Given the description of an element on the screen output the (x, y) to click on. 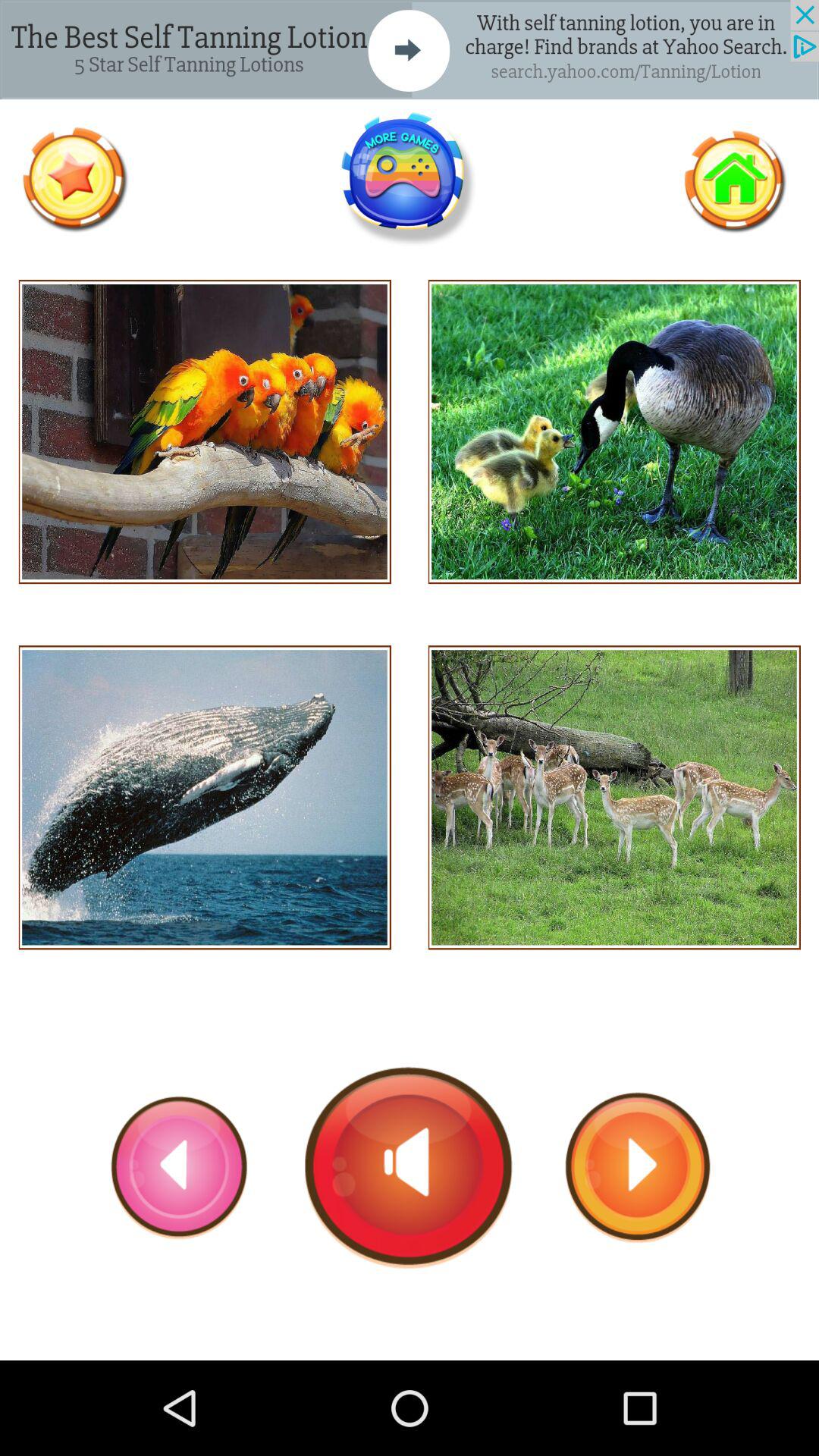
open advertisement (409, 49)
